Given the description of an element on the screen output the (x, y) to click on. 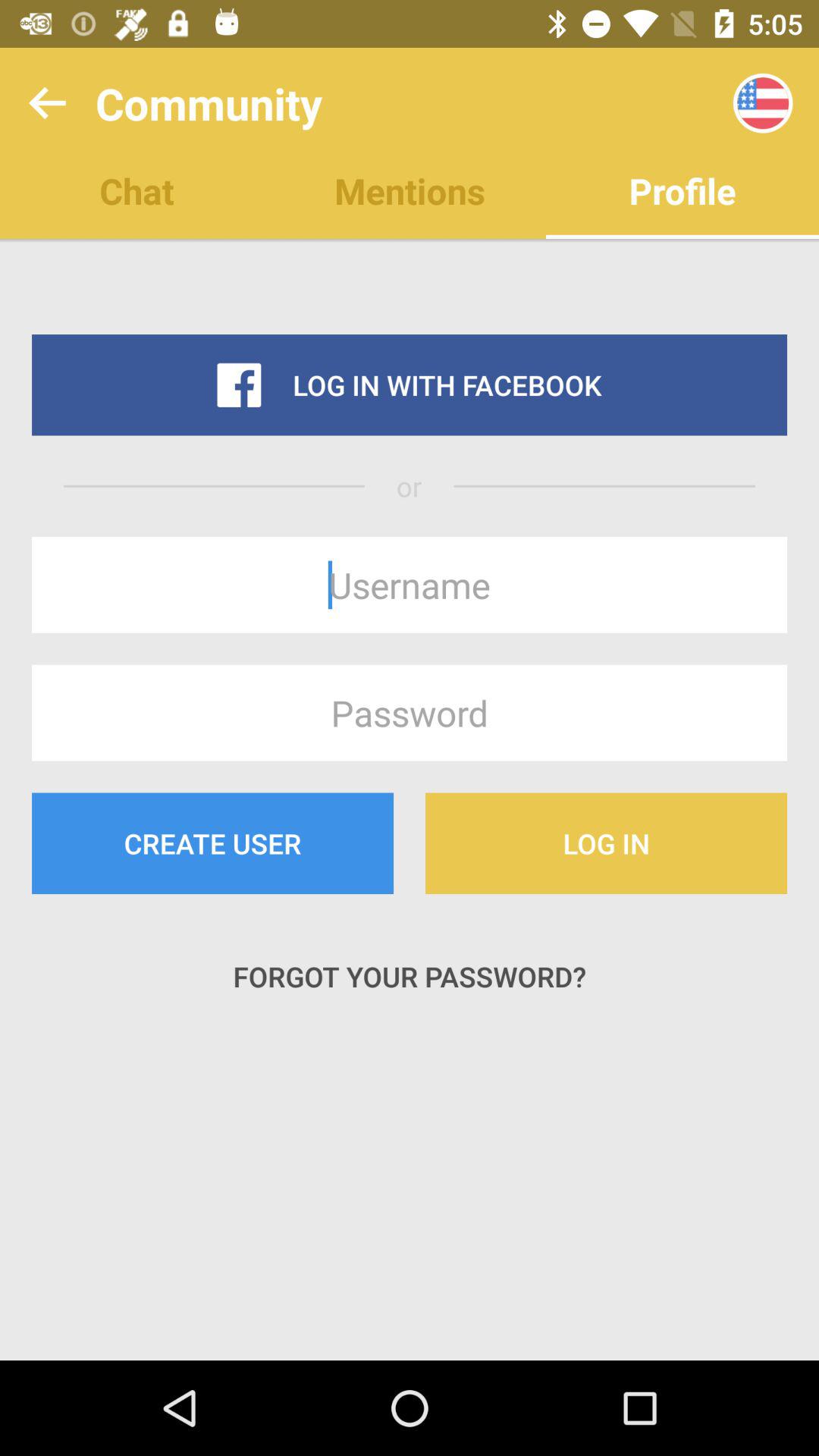
this button is used to enter the username (409, 584)
